Given the description of an element on the screen output the (x, y) to click on. 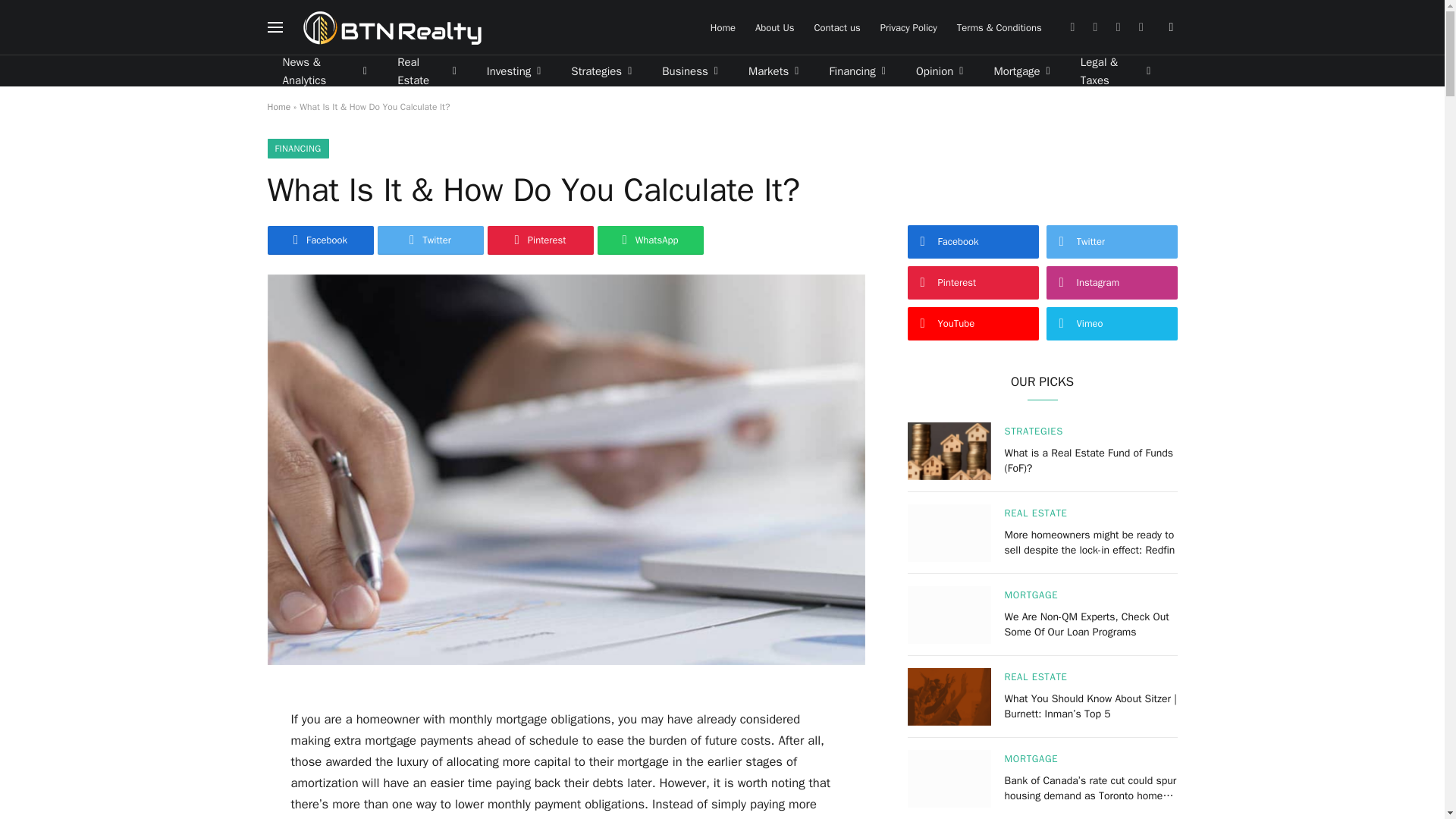
Privacy Policy (908, 27)
About Us (774, 27)
BTN Realty (392, 27)
Contact us (836, 27)
Switch to Dark Design - easier on eyes. (1168, 27)
